Given the description of an element on the screen output the (x, y) to click on. 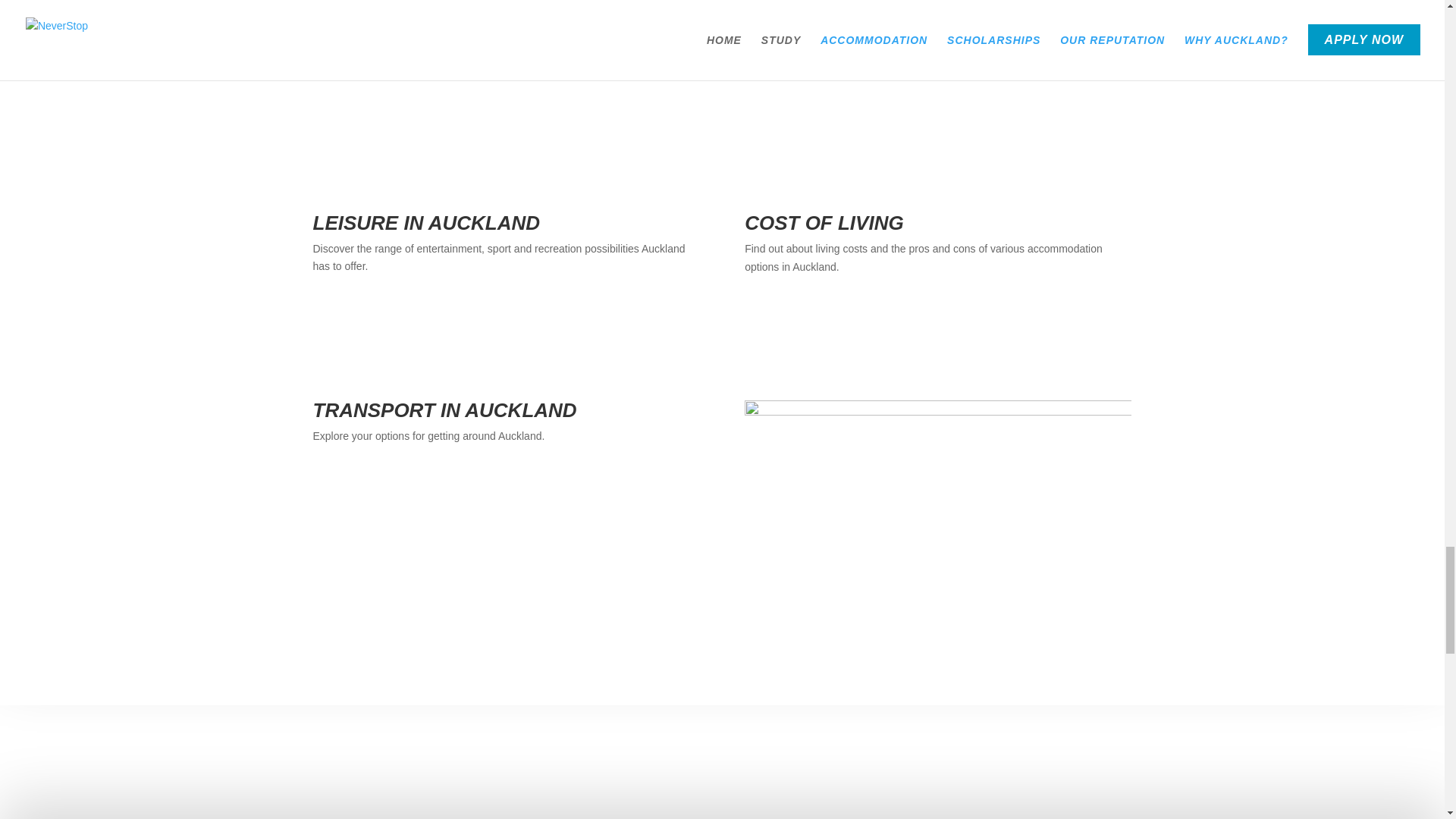
View Details (802, 317)
Find Out More (377, 487)
See What Auckland Offers (417, 317)
